Given the description of an element on the screen output the (x, y) to click on. 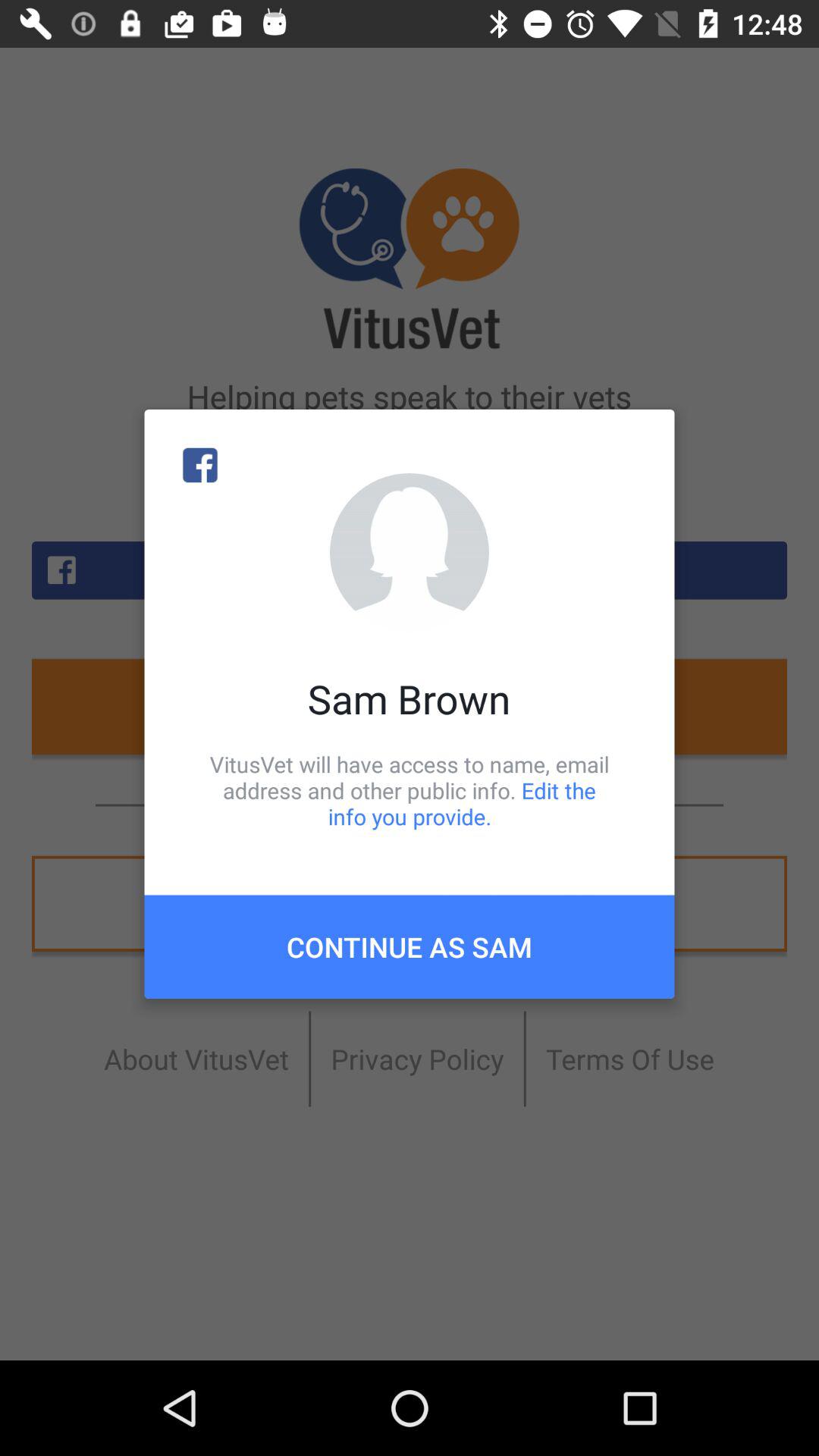
flip until the continue as sam icon (409, 946)
